Given the description of an element on the screen output the (x, y) to click on. 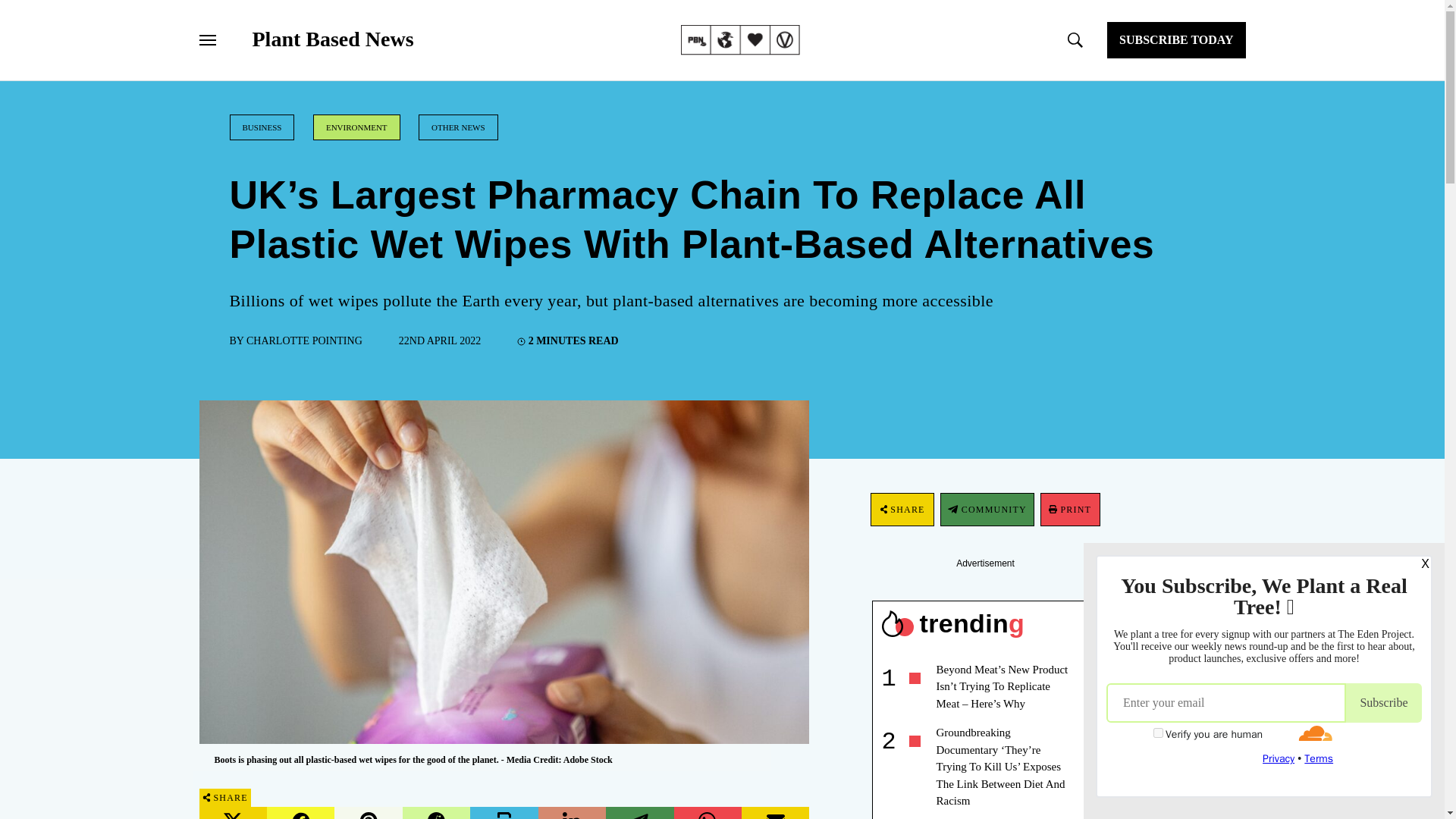
BUSINESS (261, 127)
Plant Based News (332, 39)
ENVIRONMENT (356, 127)
CHARLOTTE POINTING (304, 340)
Posts by Charlotte Pointing (304, 340)
OTHER NEWS (458, 127)
SUBSCRIBE TODAY (1175, 40)
